Given the description of an element on the screen output the (x, y) to click on. 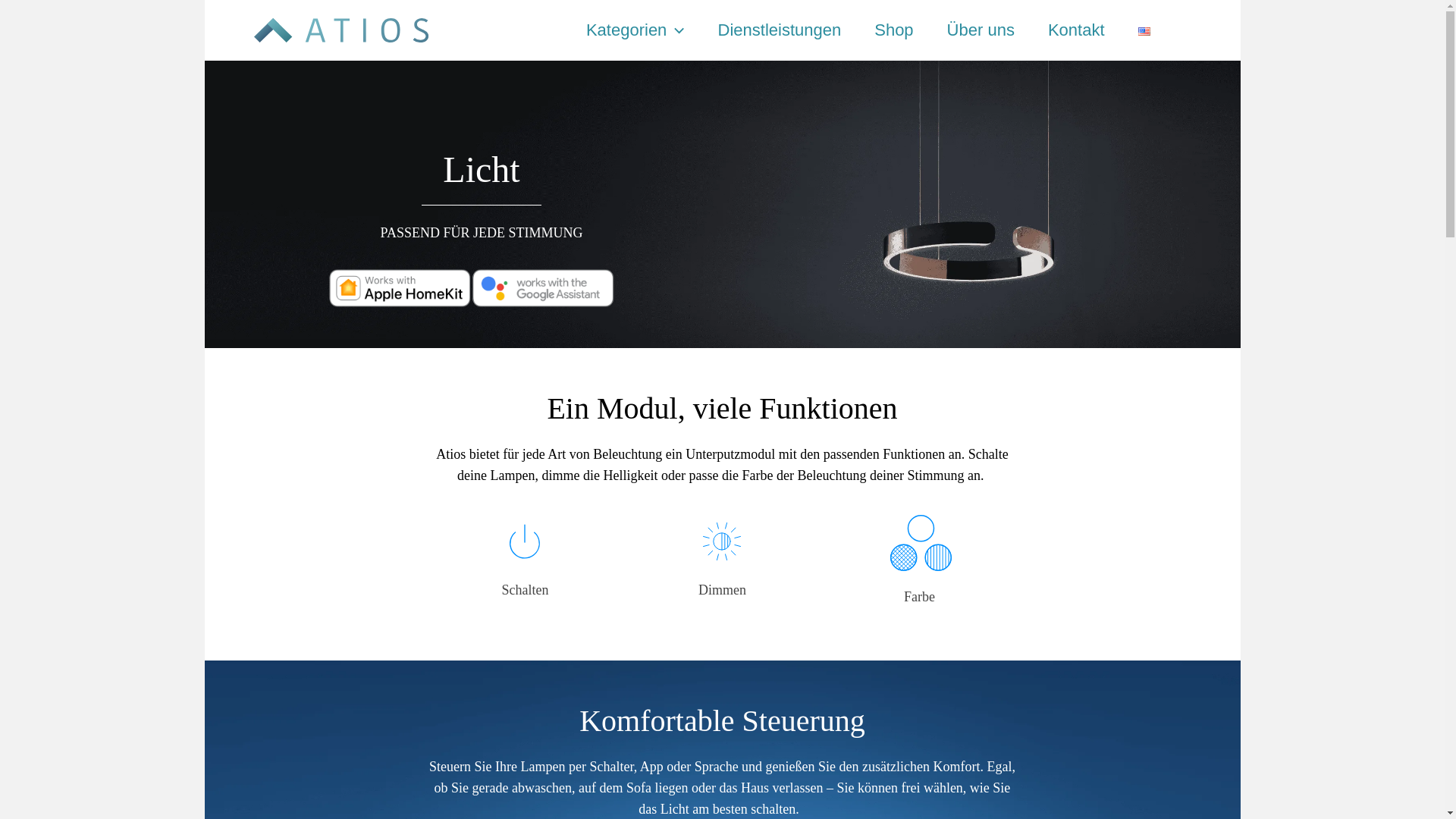
Dienstleistungen Element type: text (779, 30)
Kontakt Element type: text (1076, 30)
Kategorien Element type: text (635, 30)
Shop Element type: text (893, 30)
